Given the description of an element on the screen output the (x, y) to click on. 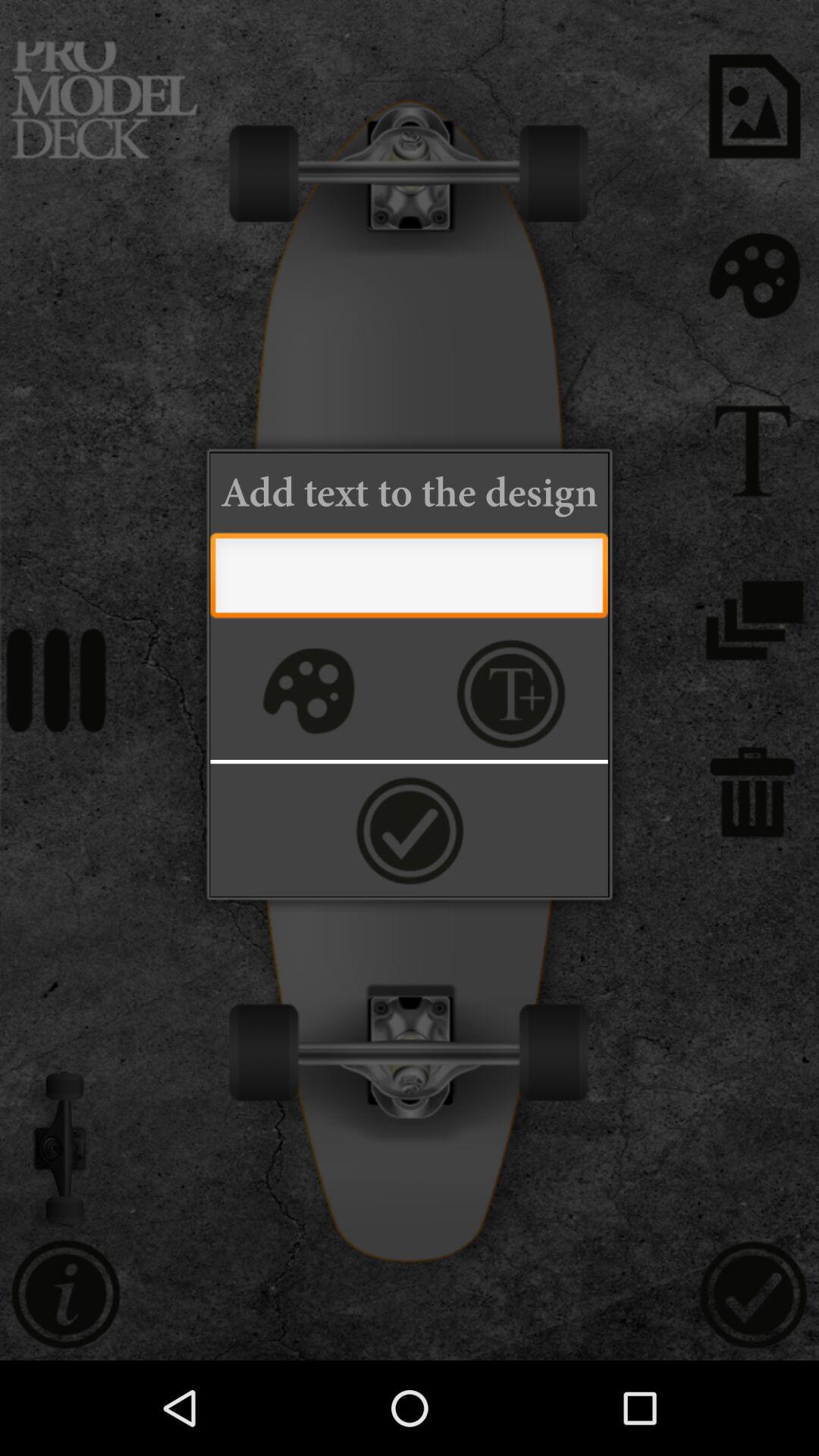
accept (408, 829)
